Given the description of an element on the screen output the (x, y) to click on. 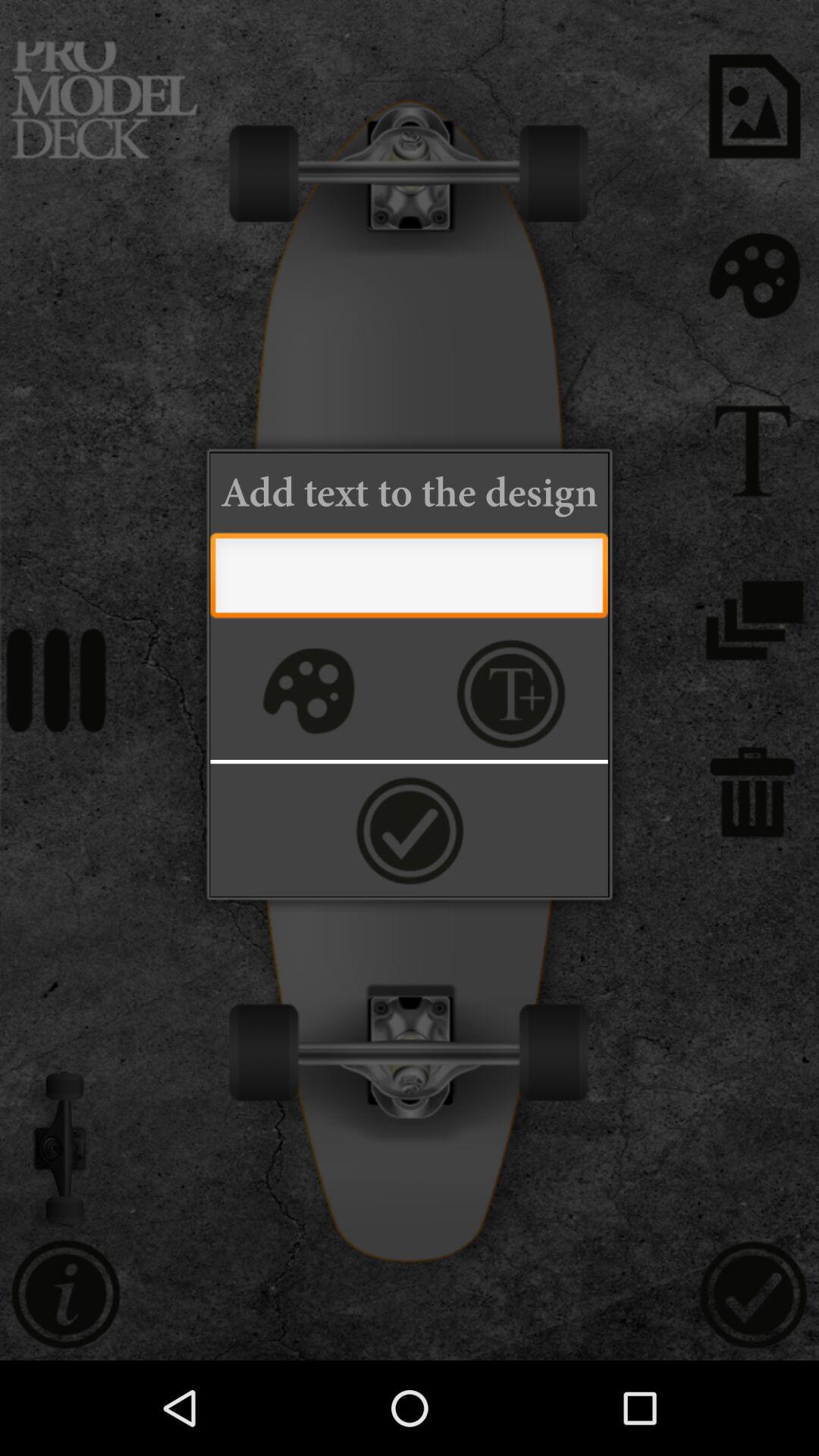
accept (408, 829)
